Given the description of an element on the screen output the (x, y) to click on. 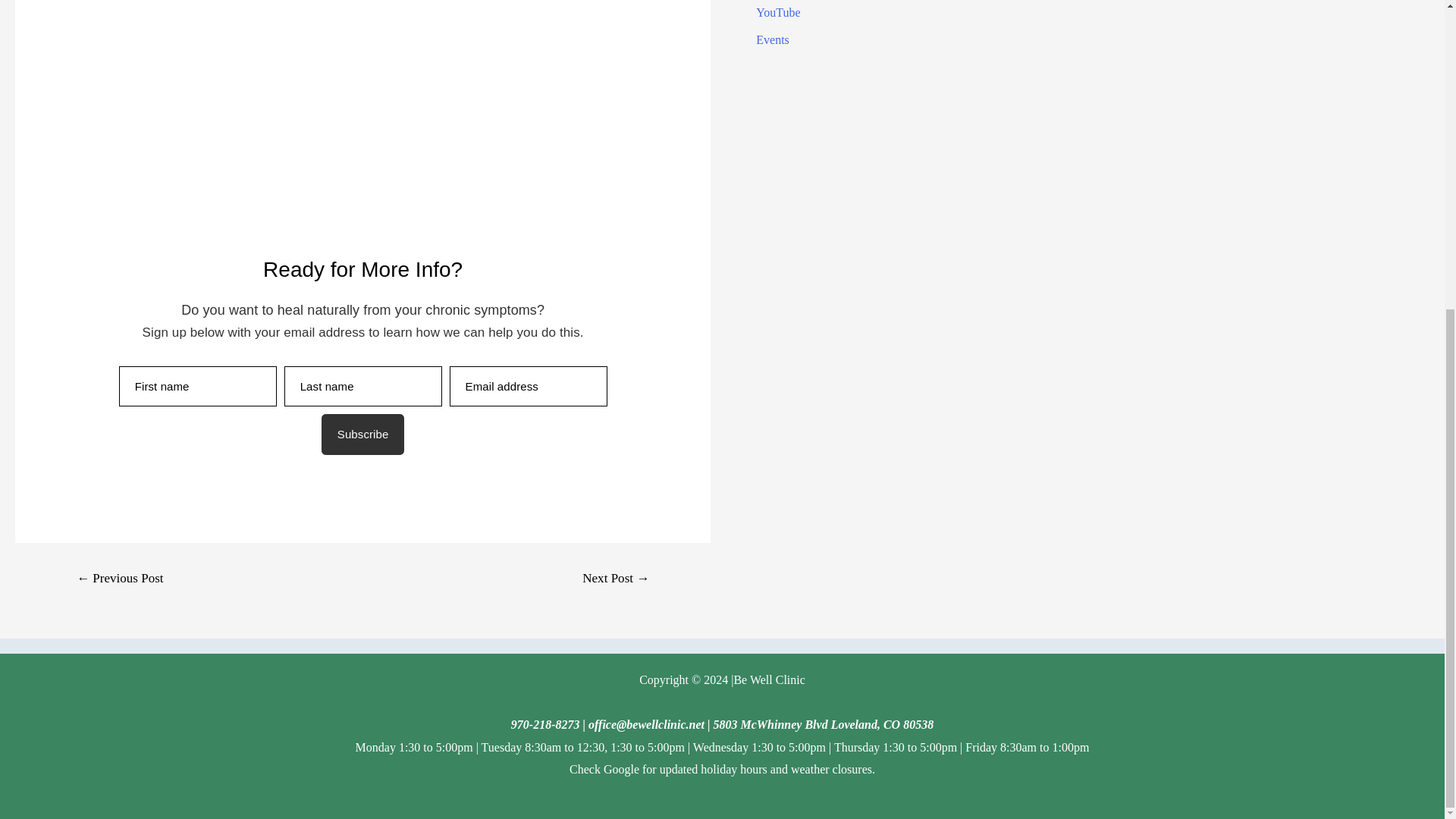
Subscribe (362, 434)
How to Emotionally Support Your Kids (363, 118)
